Given the description of an element on the screen output the (x, y) to click on. 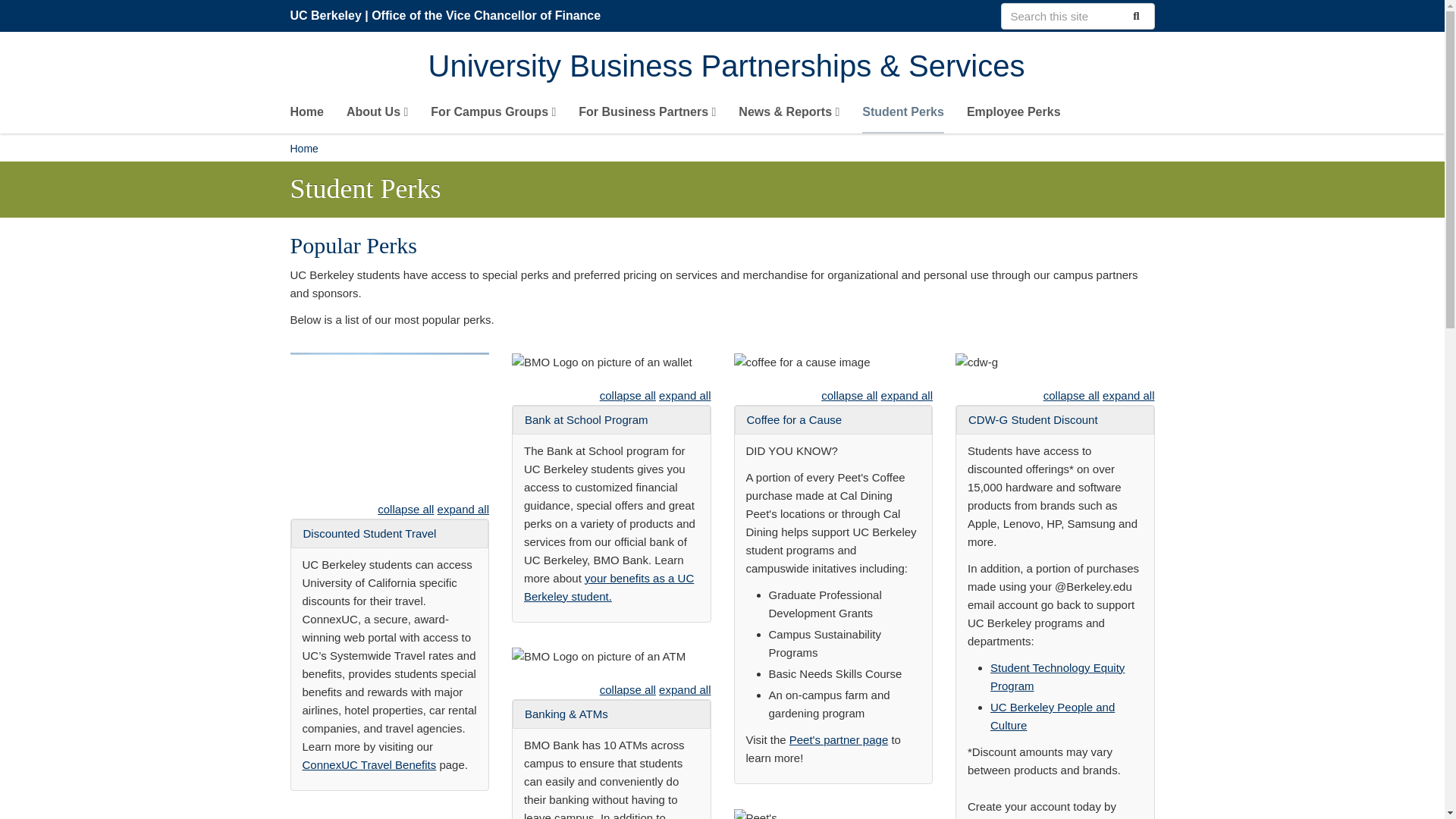
Office of the Vice Chancellor of Finance (485, 15)
Student Perks (902, 115)
expand all (463, 508)
 Travel Benefits (396, 764)
ConnexUC (328, 764)
Home (306, 115)
Submit Search (1133, 15)
UC Berkeley (325, 15)
Home (791, 67)
